Given the description of an element on the screen output the (x, y) to click on. 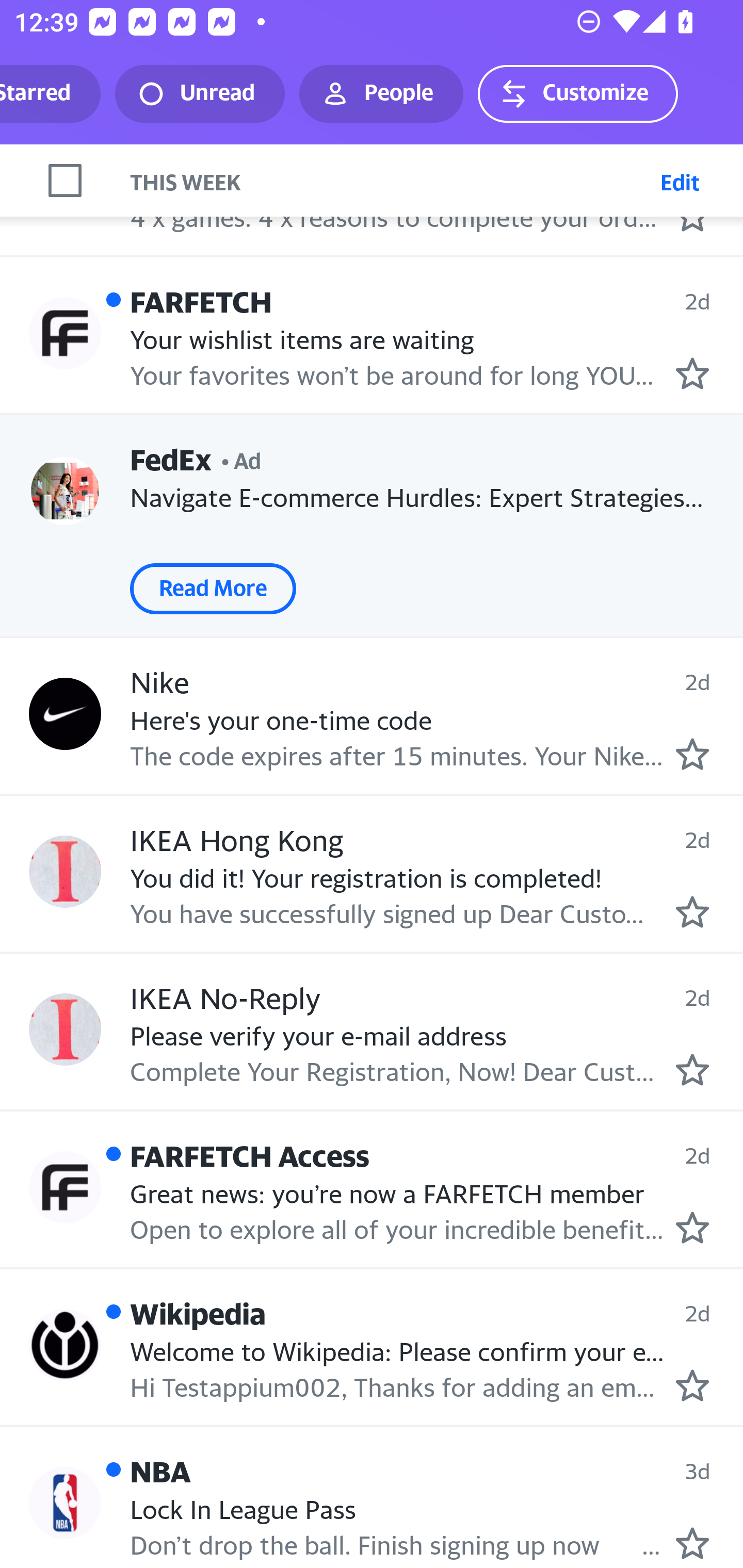
Unread (199, 93)
People (381, 93)
Customize (577, 93)
Profile
NBA (64, 177)
Profile
FARFETCH (64, 333)
Mark as starred. (692, 373)
Profile
Nike (64, 713)
Mark as starred. (692, 753)
Profile
IKEA Hong Kong (64, 871)
Mark as starred. (692, 911)
Profile
IKEA No-Reply (64, 1030)
Mark as starred. (692, 1070)
Profile
FARFETCH Access (64, 1186)
Mark as starred. (692, 1226)
Profile
Wikipedia (64, 1345)
Mark as starred. (692, 1385)
Profile
NBA (64, 1503)
Mark as starred. (692, 1543)
